Given the description of an element on the screen output the (x, y) to click on. 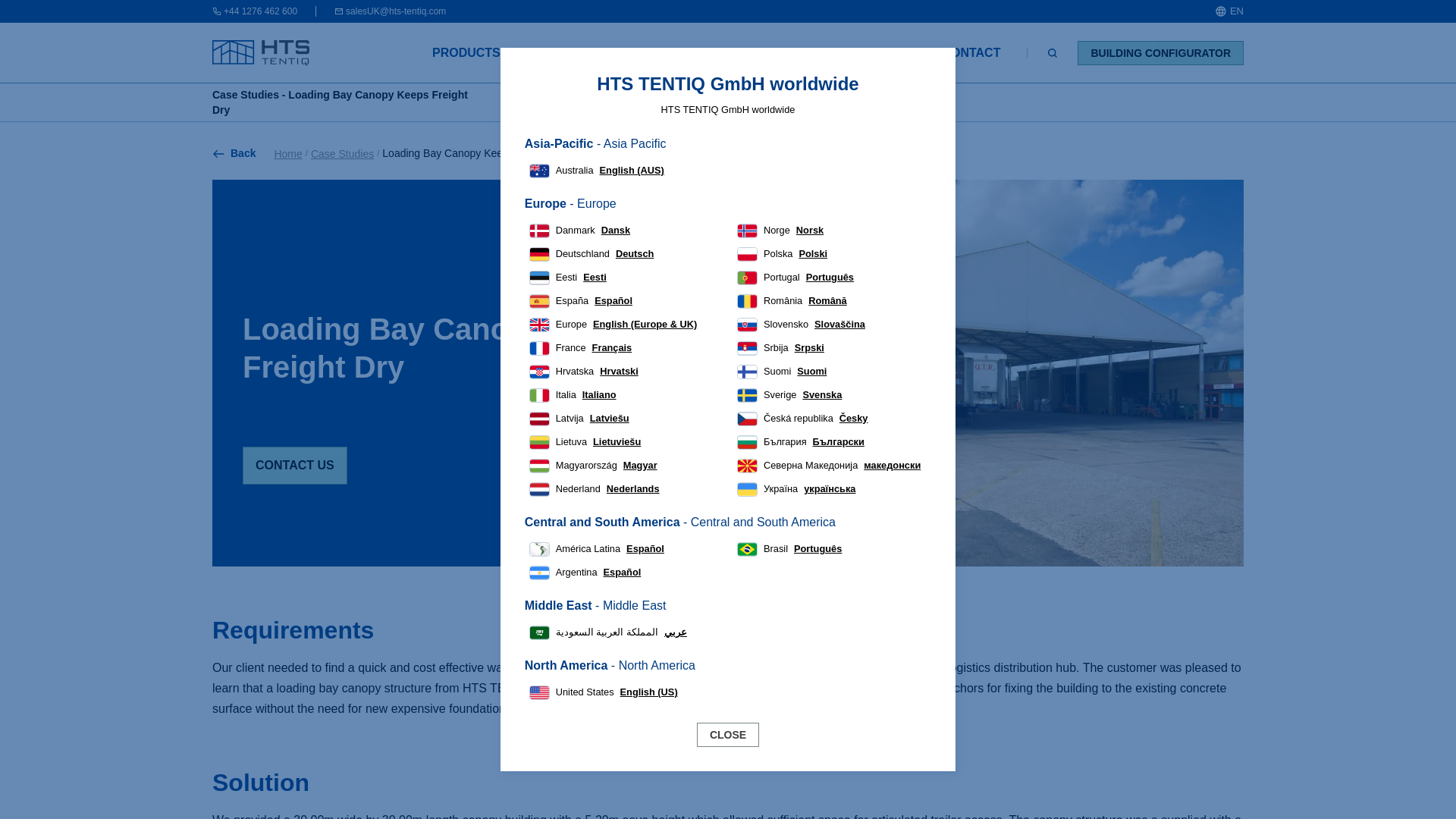
Related Products (831, 101)
Solution (642, 101)
BUILDING CONFIGURATOR (1160, 52)
Back (234, 153)
Building Configurator (1160, 52)
Home (287, 153)
CONTACT (971, 52)
PRODUCTS (466, 52)
Case Studies (342, 153)
CONTACT US (295, 465)
EN (1228, 10)
Requirements (571, 101)
Benefits (698, 101)
Our Expertise (922, 101)
